Given the description of an element on the screen output the (x, y) to click on. 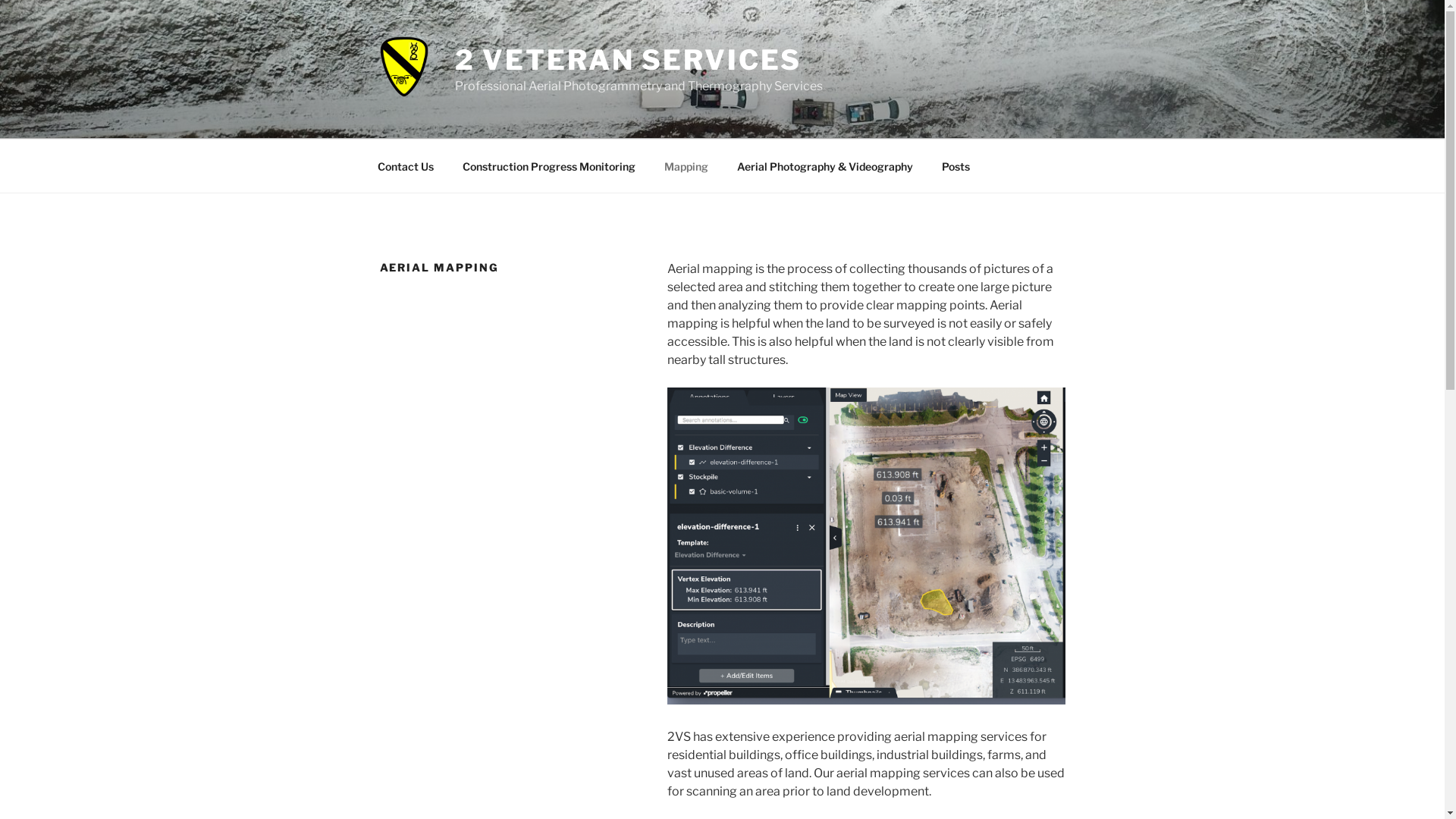
Construction Progress Monitoring Element type: text (548, 165)
Aerial Photography & Videography Element type: text (824, 165)
2 VETERAN SERVICES Element type: text (628, 59)
Mapping Element type: text (685, 165)
Contact Us Element type: text (405, 165)
Posts Element type: text (955, 165)
